Given the description of an element on the screen output the (x, y) to click on. 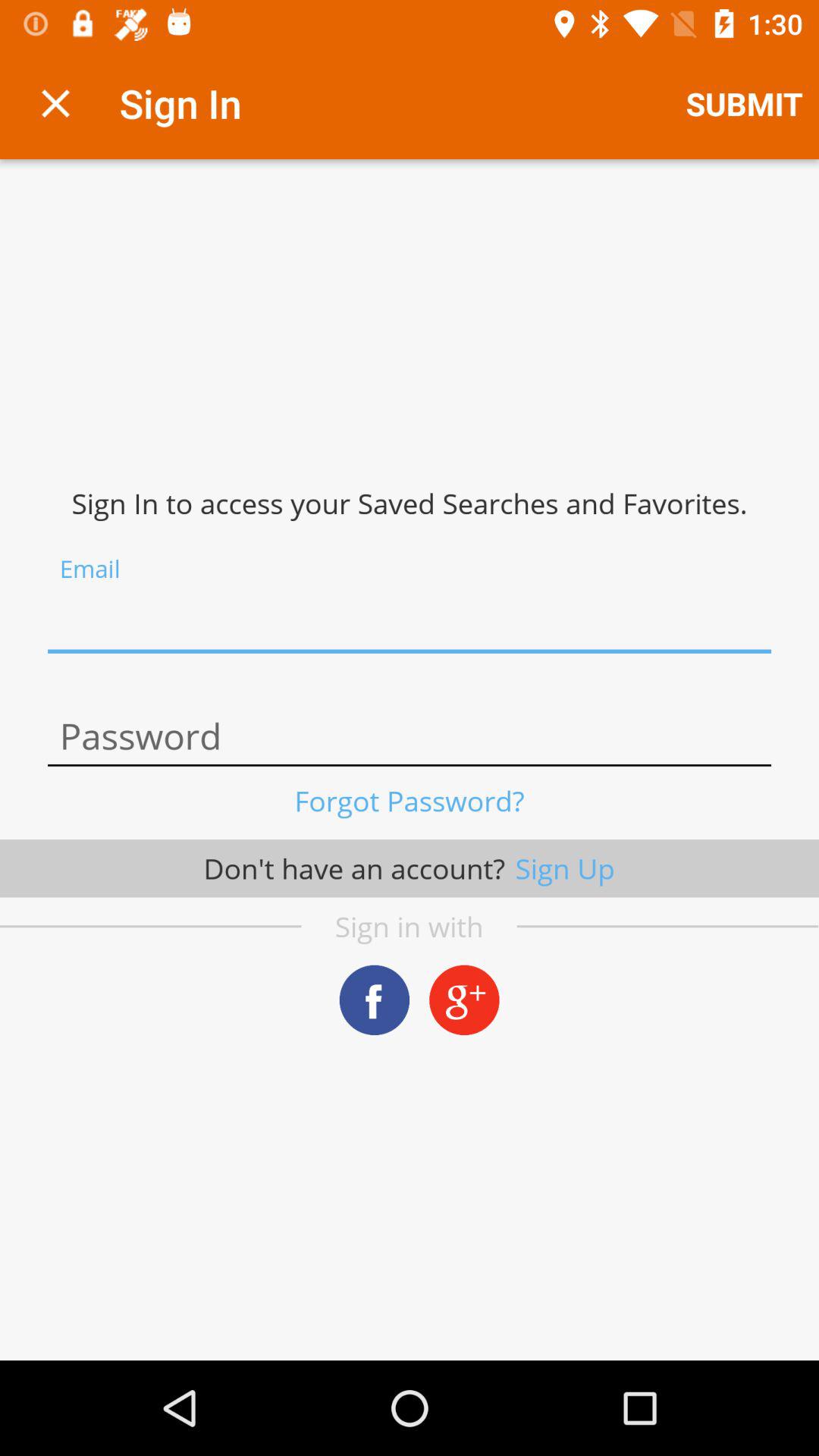
go to sign up (409, 622)
